Given the description of an element on the screen output the (x, y) to click on. 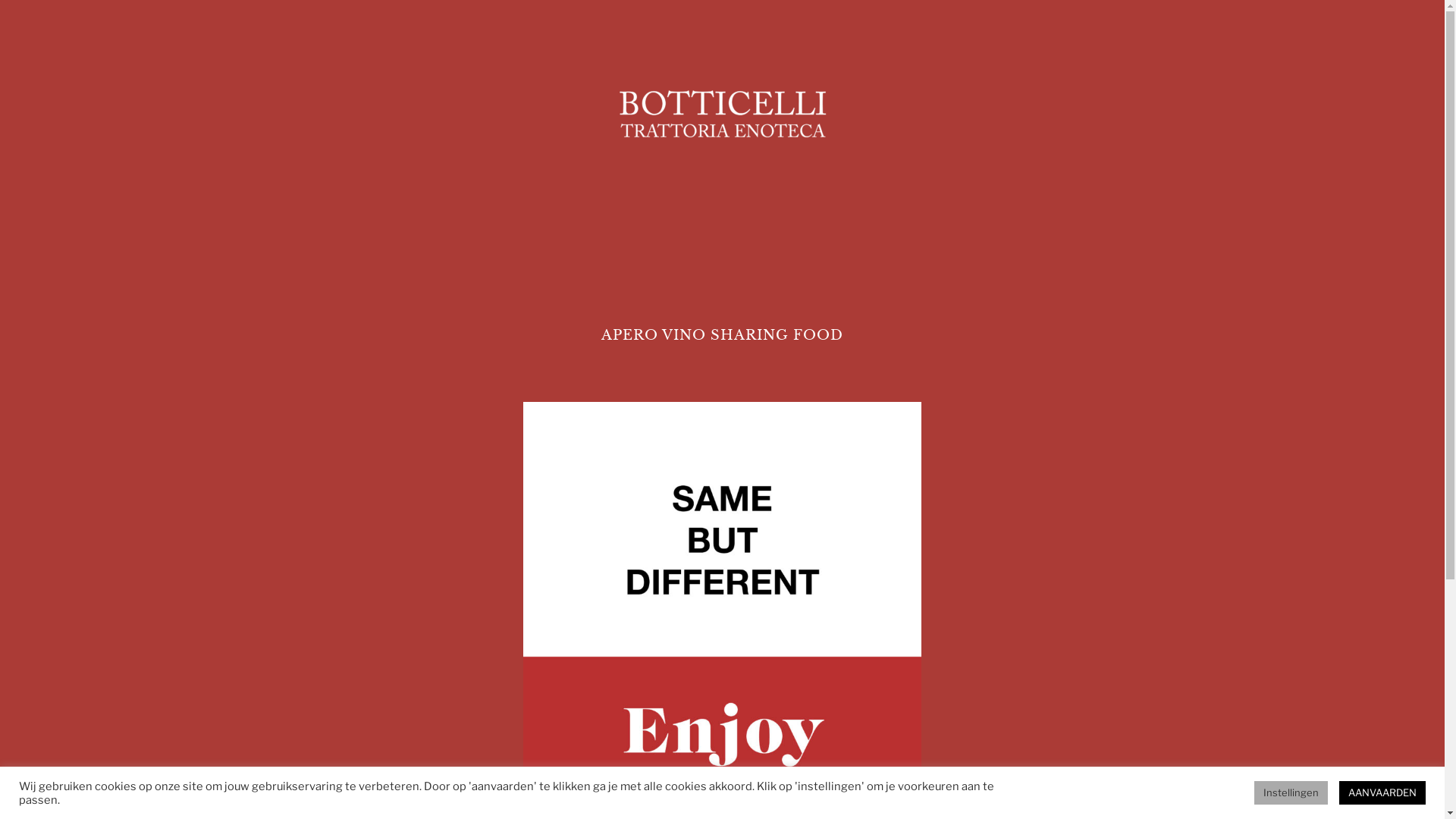
Skip to content Element type: text (0, 0)
Instellingen Element type: text (1290, 792)
AANVAARDEN Element type: text (1382, 792)
